Given the description of an element on the screen output the (x, y) to click on. 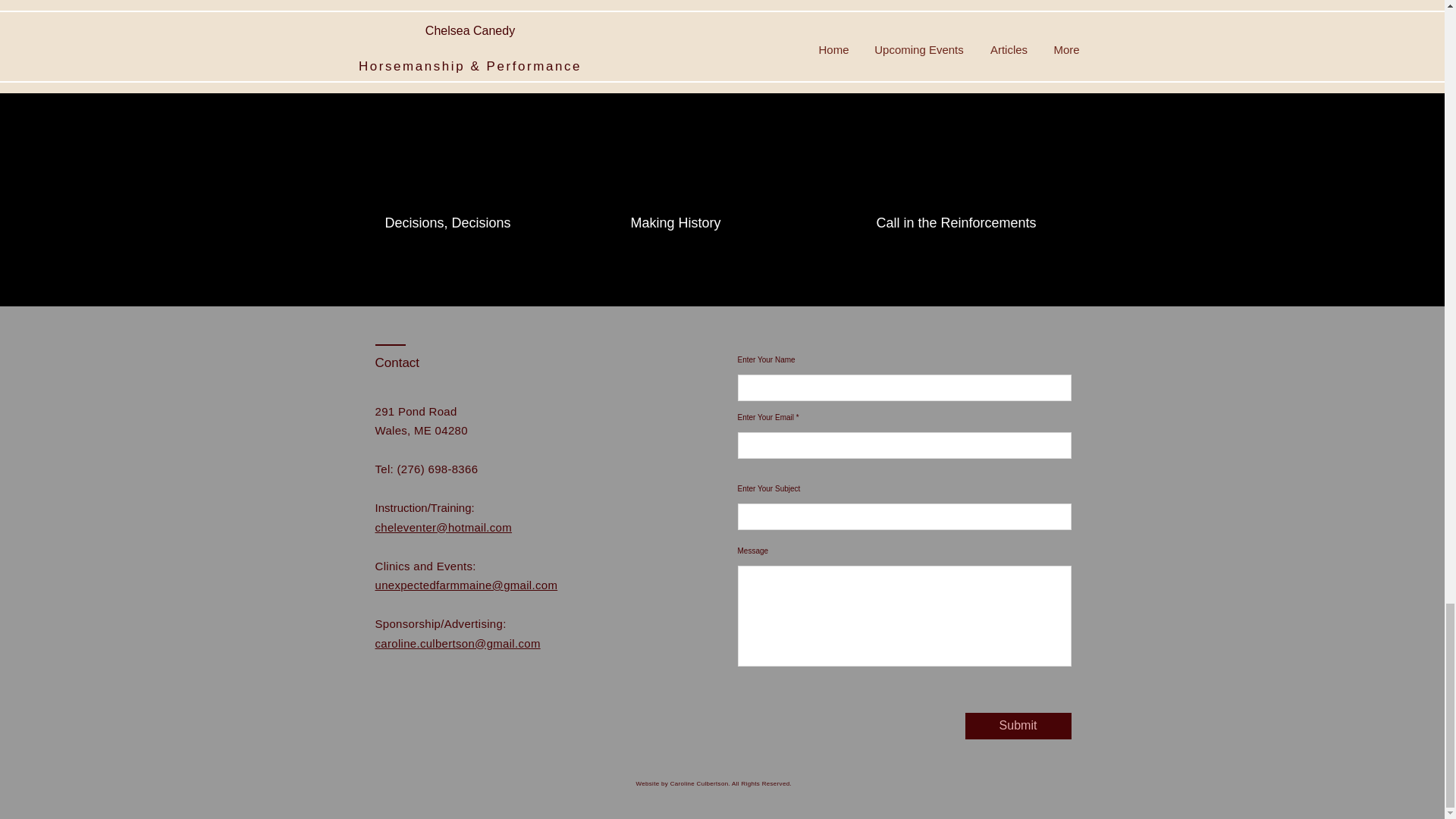
Making History (721, 222)
Decisions, Decisions (476, 222)
Website by Caroline Culbertson. All Rights Reserved. (712, 783)
Call in the Reinforcements (967, 222)
See All (1061, 47)
Submit (1016, 725)
